Given the description of an element on the screen output the (x, y) to click on. 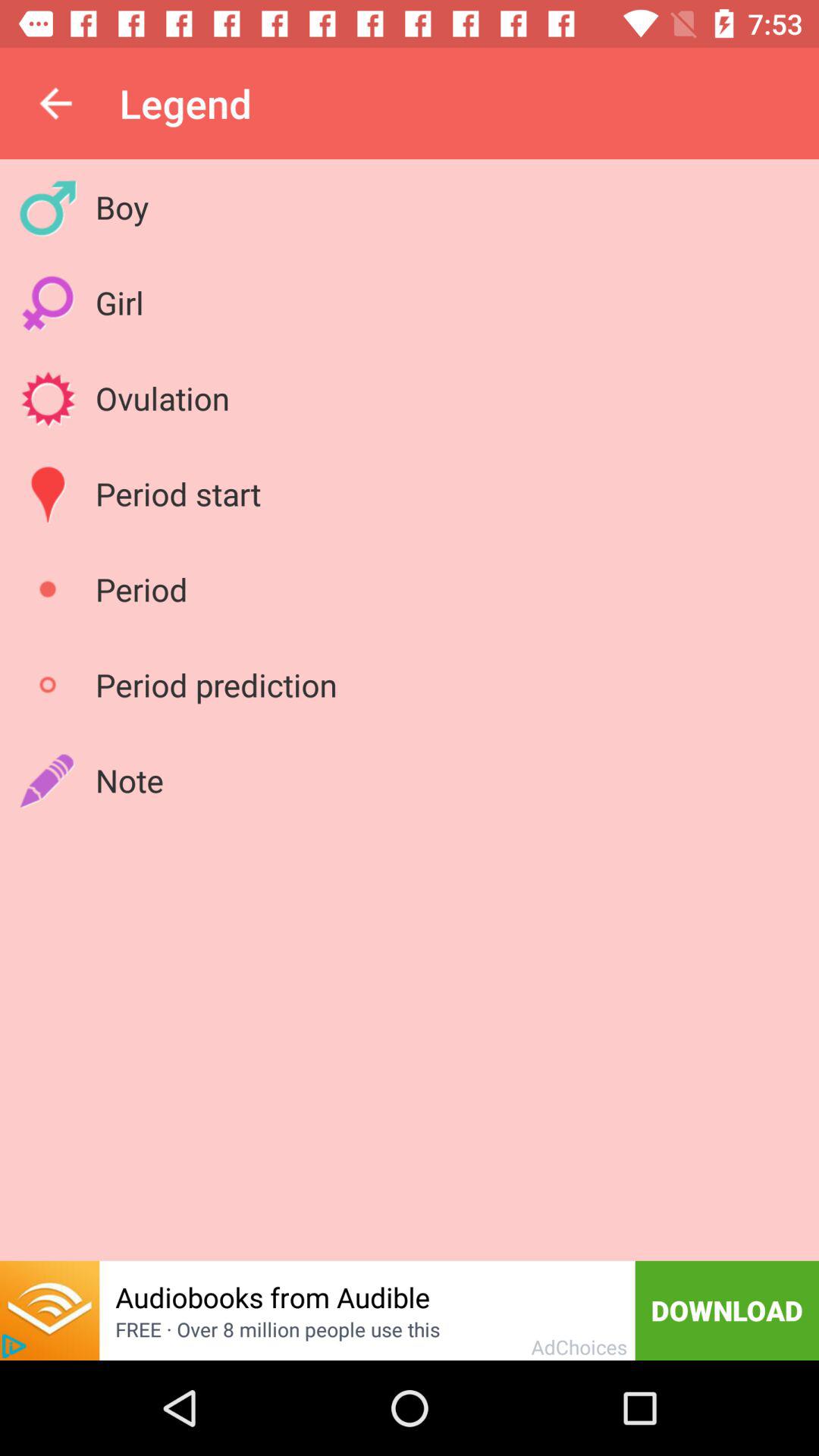
play advertisement (14, 1346)
